Given the description of an element on the screen output the (x, y) to click on. 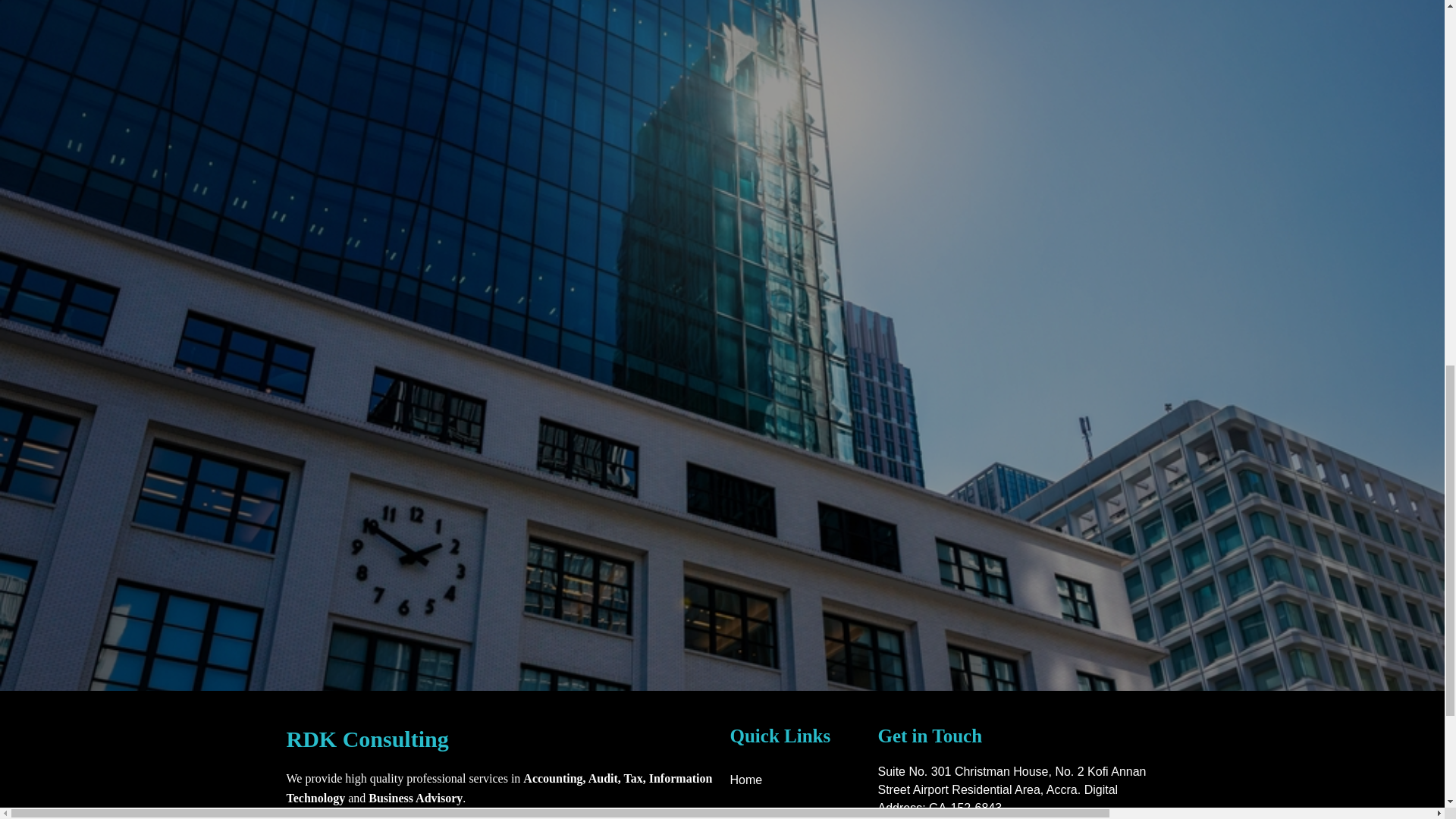
RDK Consulting (500, 739)
Home (795, 779)
About Us (795, 808)
